Given the description of an element on the screen output the (x, y) to click on. 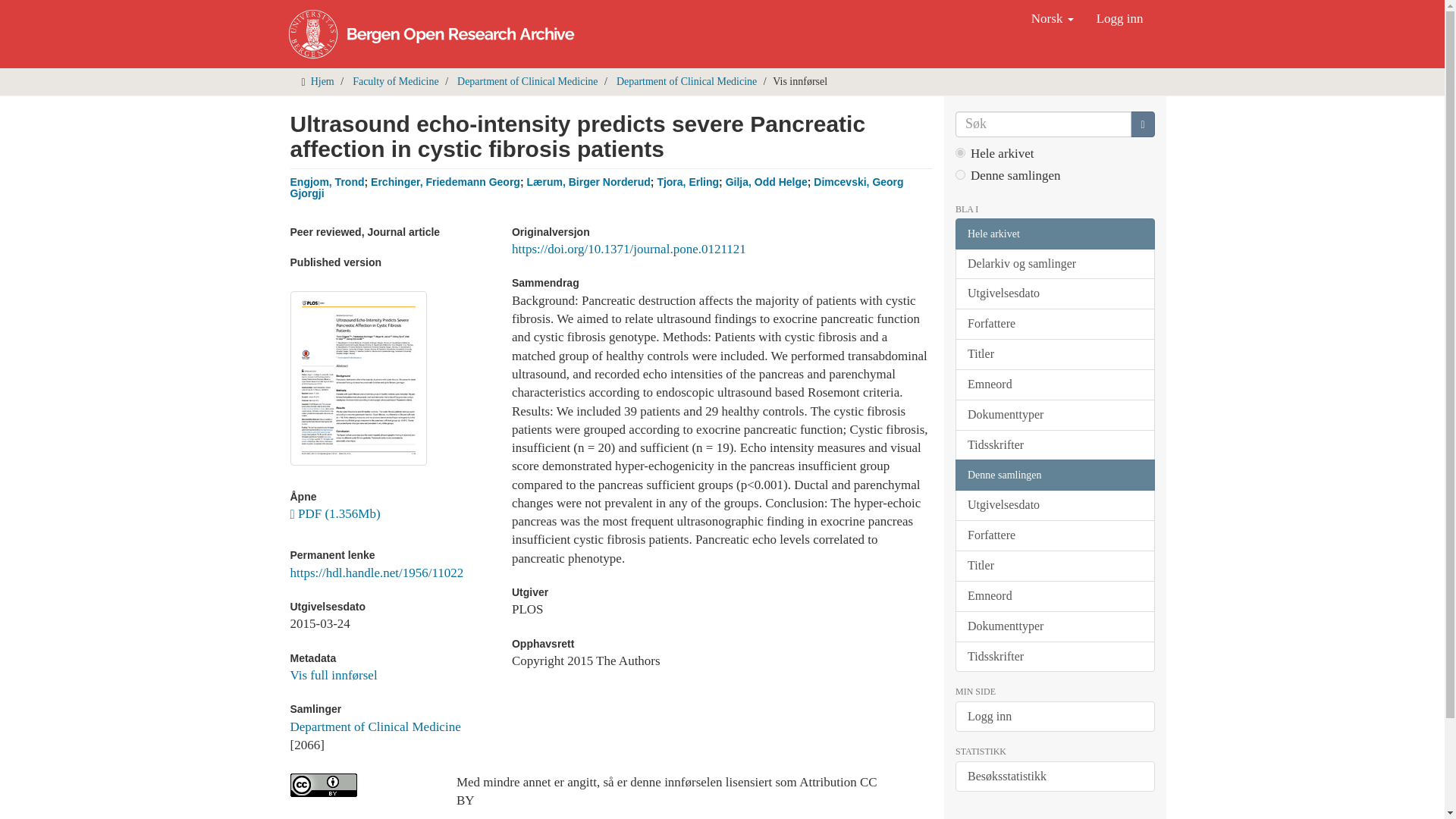
Department of Clinical Medicine (526, 81)
Attribution CC BY (360, 784)
Department of Clinical Medicine (686, 81)
Department of Clinical Medicine (374, 726)
Tjora, Erling (687, 182)
Engjom, Trond (326, 182)
Faculty of Medicine (395, 81)
Logg inn (1119, 18)
Dimcevski, Georg Gjorgji (595, 187)
Norsk  (1052, 18)
Erchinger, Friedemann Georg (445, 182)
Hjem (322, 81)
Gilja, Odd Helge (766, 182)
